Given the description of an element on the screen output the (x, y) to click on. 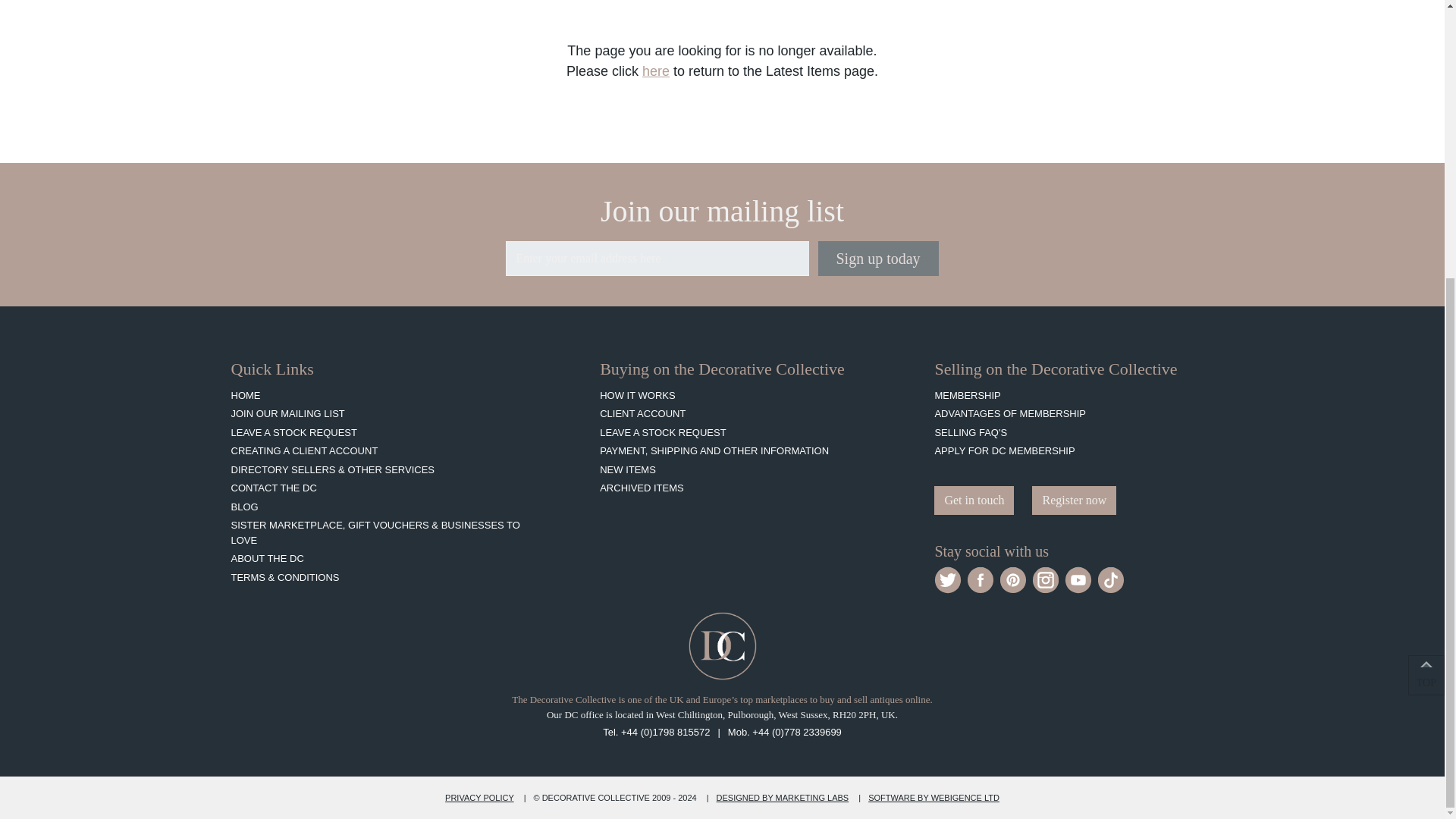
Twitter (947, 579)
YouTube (1078, 579)
TikTok (1110, 579)
Facebook (980, 579)
Instagram (1045, 579)
Pinterest (1012, 579)
